Given the description of an element on the screen output the (x, y) to click on. 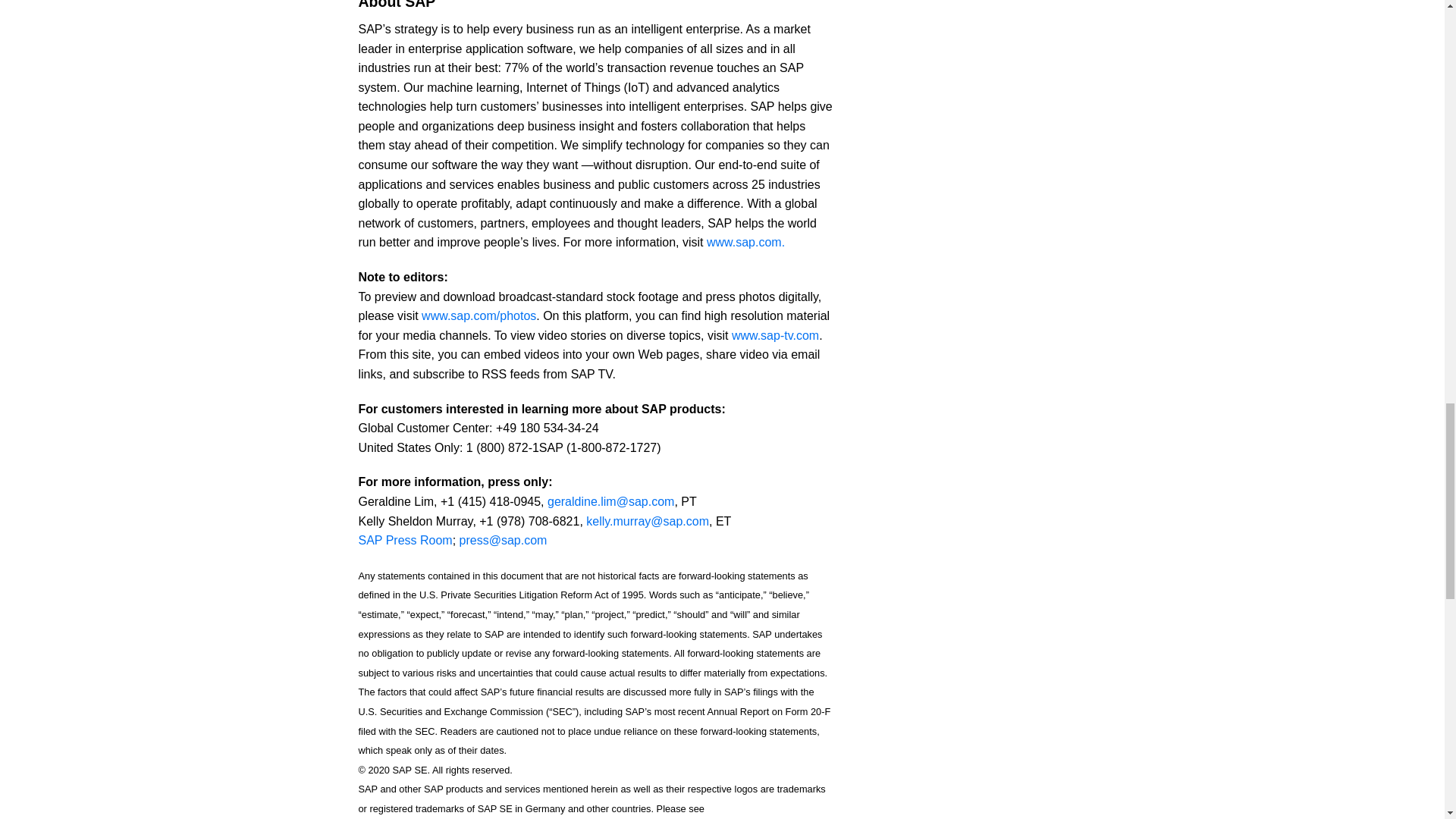
www.sap.com (743, 241)
SAP Press Room (404, 540)
www.sap-tv.com (775, 335)
